Given the description of an element on the screen output the (x, y) to click on. 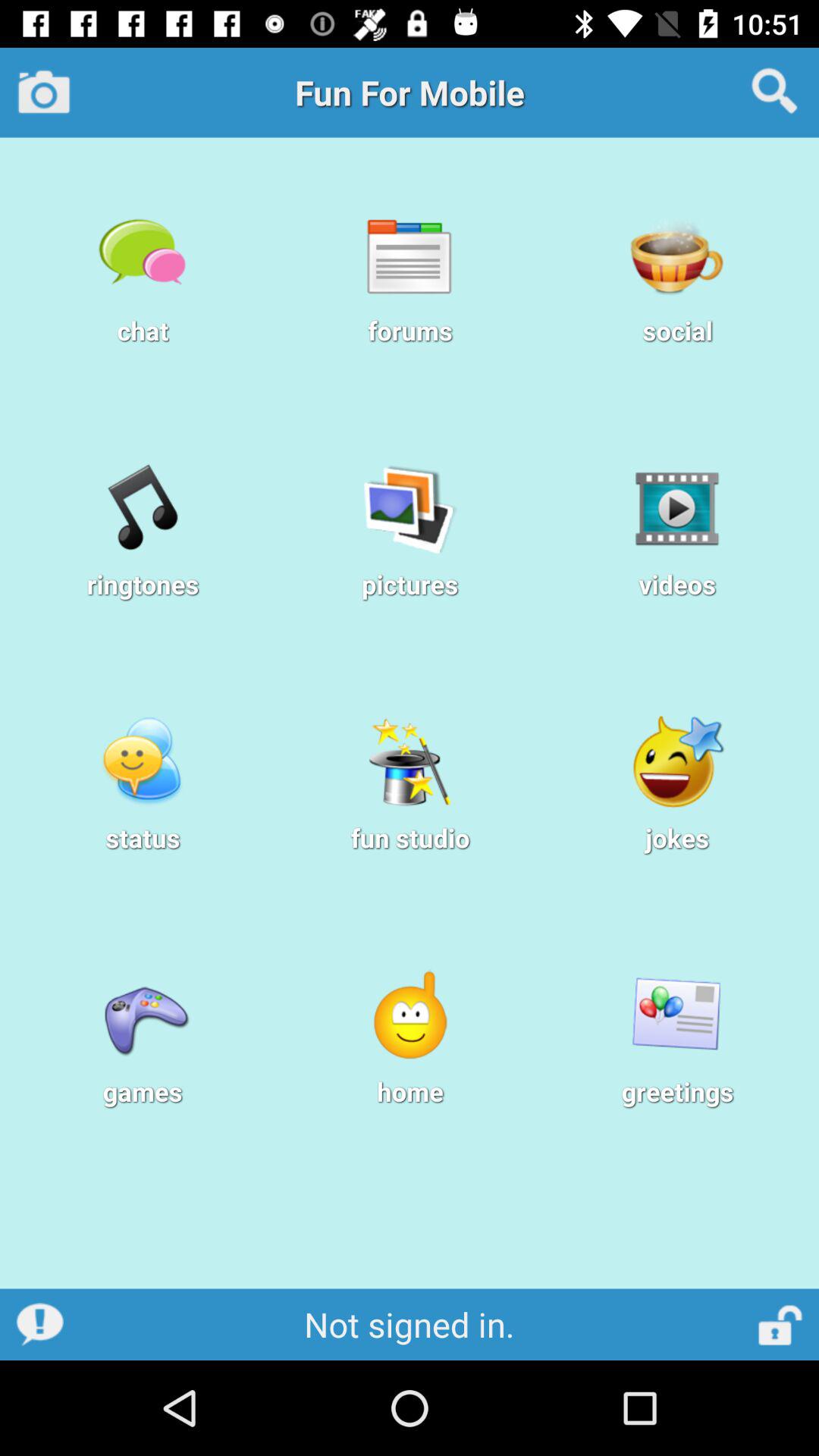
camera (43, 91)
